Given the description of an element on the screen output the (x, y) to click on. 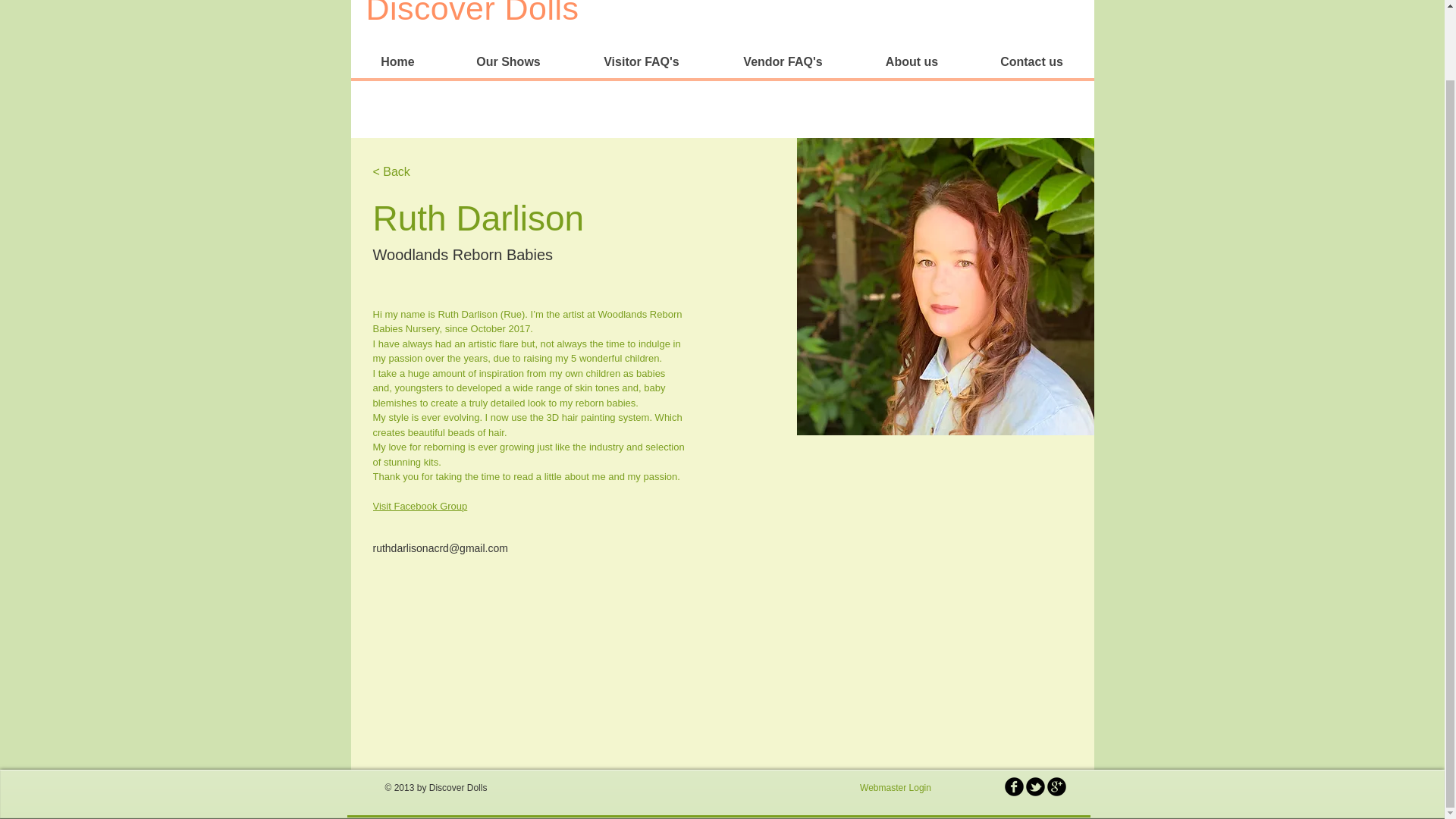
About us (910, 61)
Home (397, 61)
Vendor FAQ's (782, 61)
Webmaster Login (894, 788)
Discover Dolls (471, 13)
Contact us (1031, 61)
Visitor FAQ's (641, 61)
Visit Facebook Group (419, 505)
Our Shows (507, 61)
Ruth.jpg (944, 286)
